Given the description of an element on the screen output the (x, y) to click on. 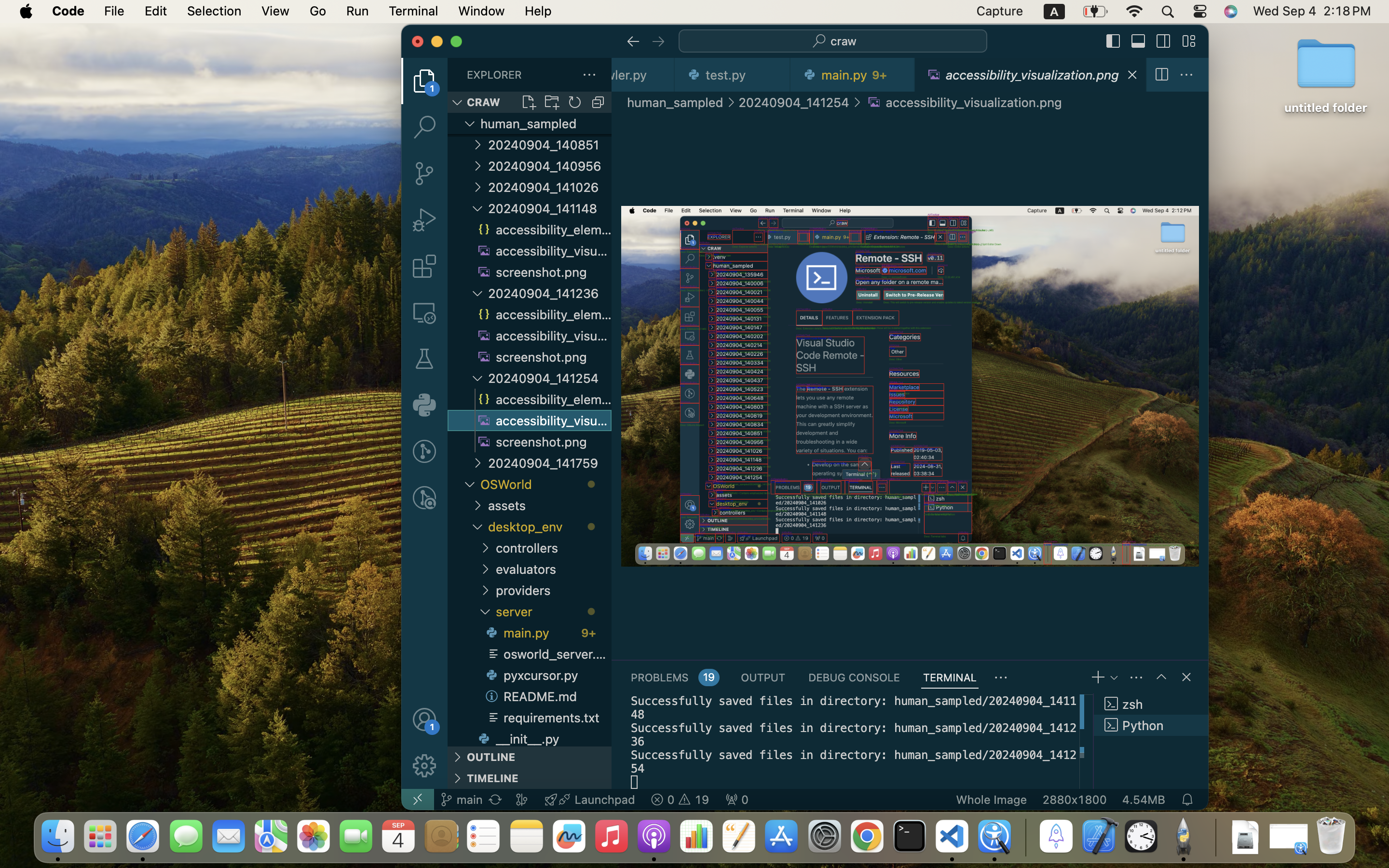
20240904_141026 Element type: AXGroup (549, 186)
20240904_140956 Element type: AXGroup (549, 165)
accessibility_elements.json  Element type: AXGroup (542, 229)
osworld_server.service  Element type: AXGroup (546, 653)
 Element type: AXGroup (424, 80)
